Given the description of an element on the screen output the (x, y) to click on. 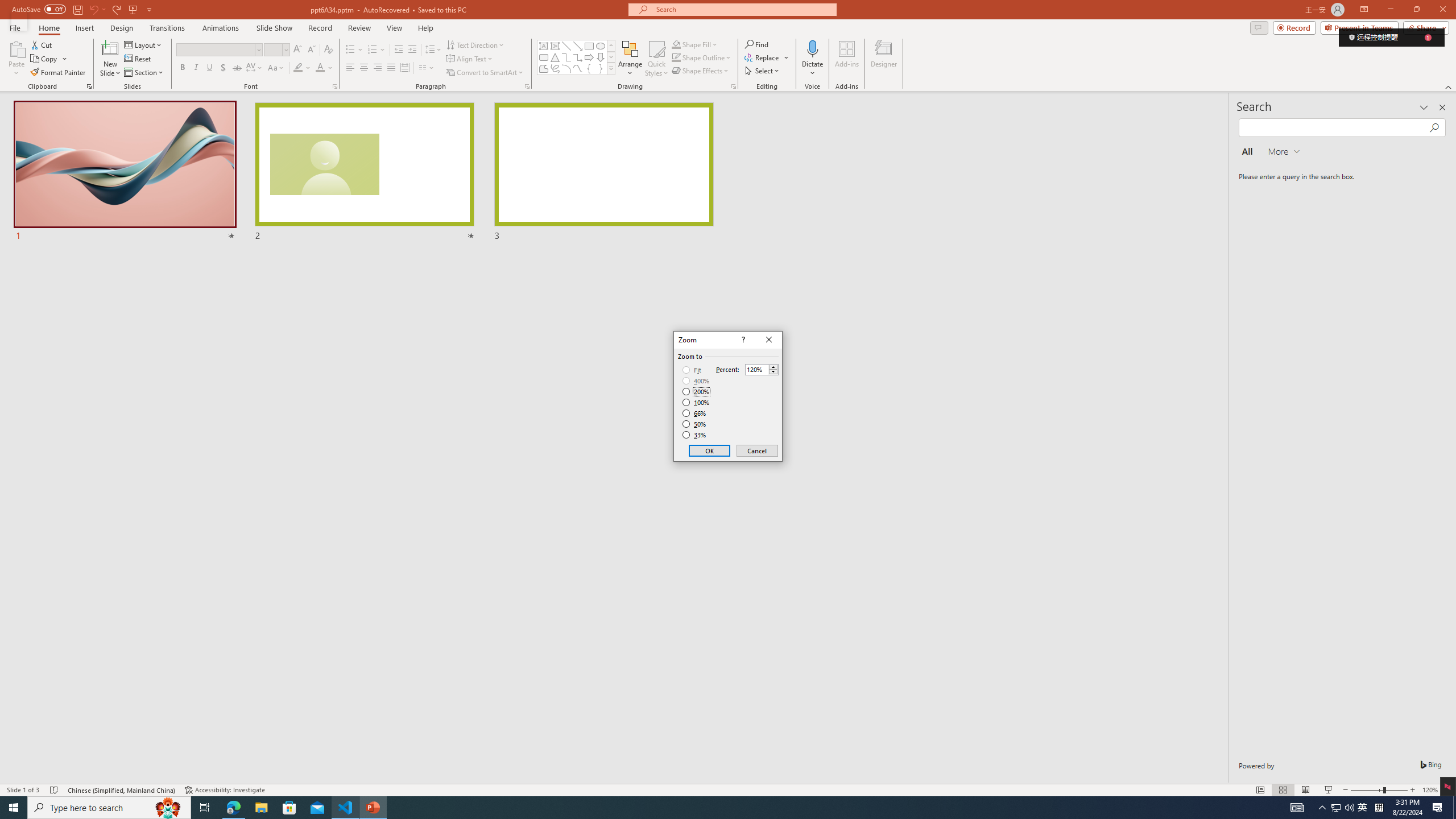
Section (144, 72)
400% (696, 380)
Shape Effects (700, 69)
Arrange (630, 58)
Action Center, 2 new notifications (1439, 807)
Percent (756, 369)
Connector: Elbow Arrow (577, 57)
Visual Studio Code - 1 running window (345, 807)
Shape Outline (675, 56)
